Given the description of an element on the screen output the (x, y) to click on. 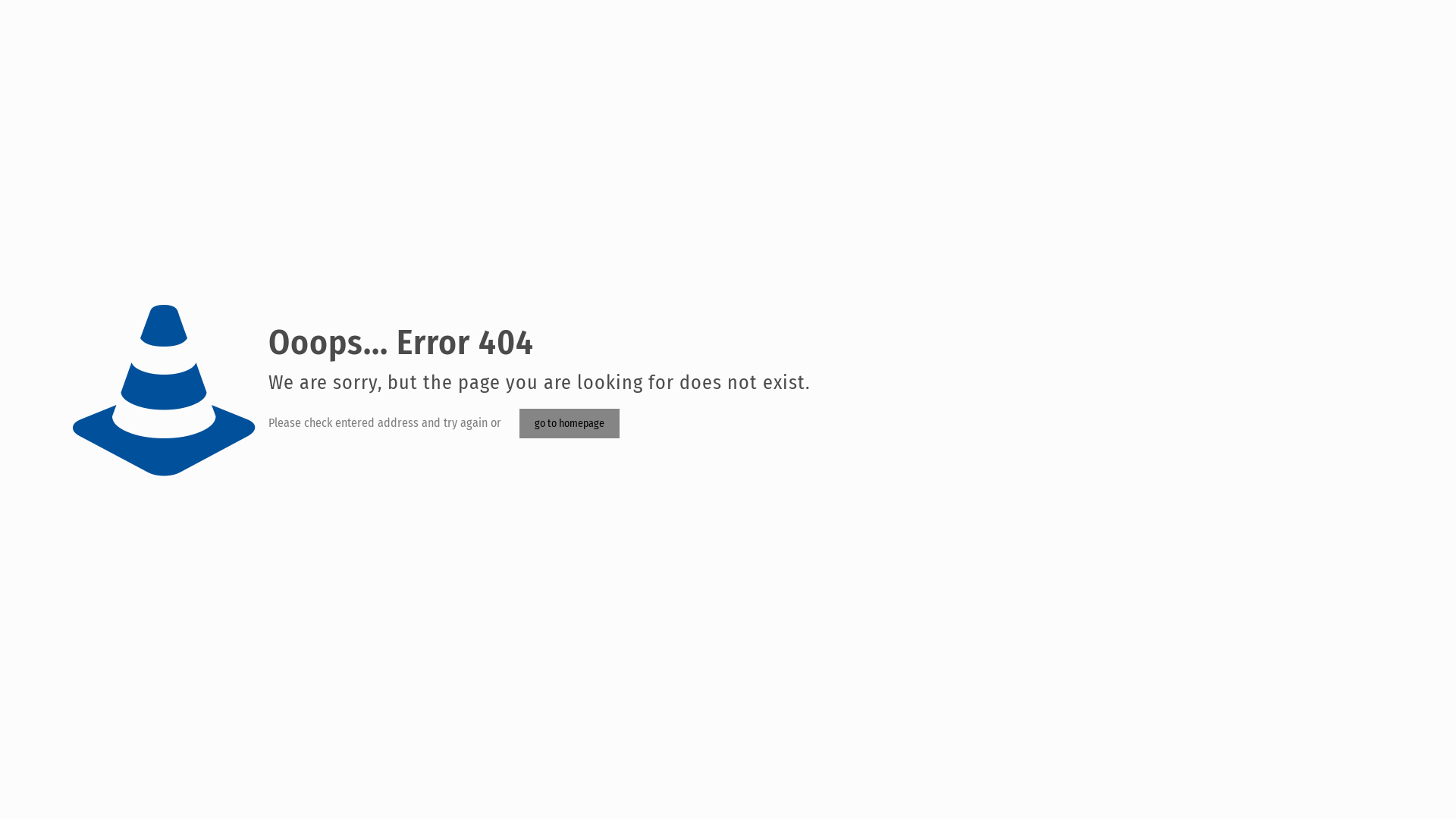
go to homepage Element type: text (569, 423)
